Given the description of an element on the screen output the (x, y) to click on. 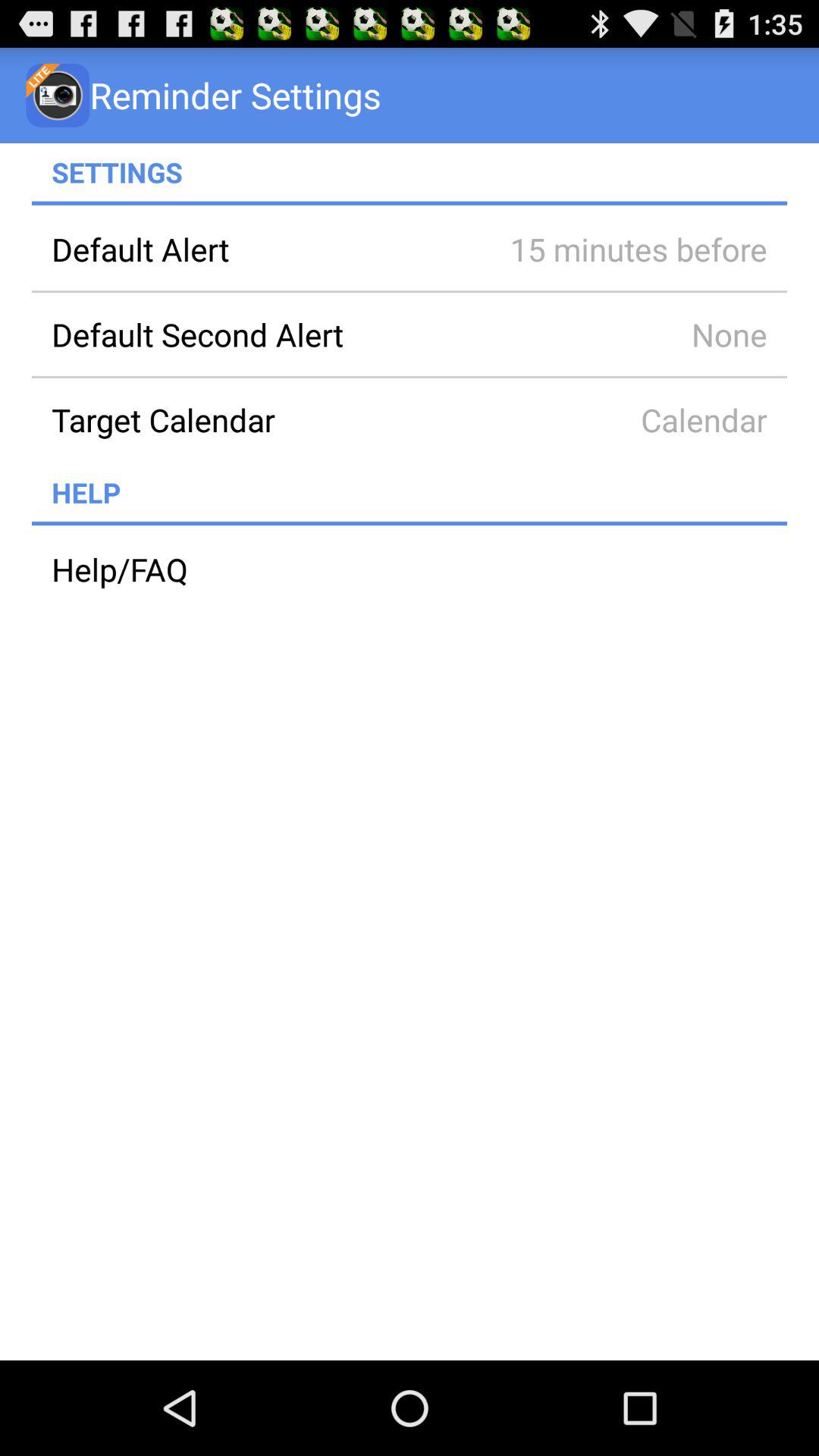
click the help/faq (409, 568)
